Given the description of an element on the screen output the (x, y) to click on. 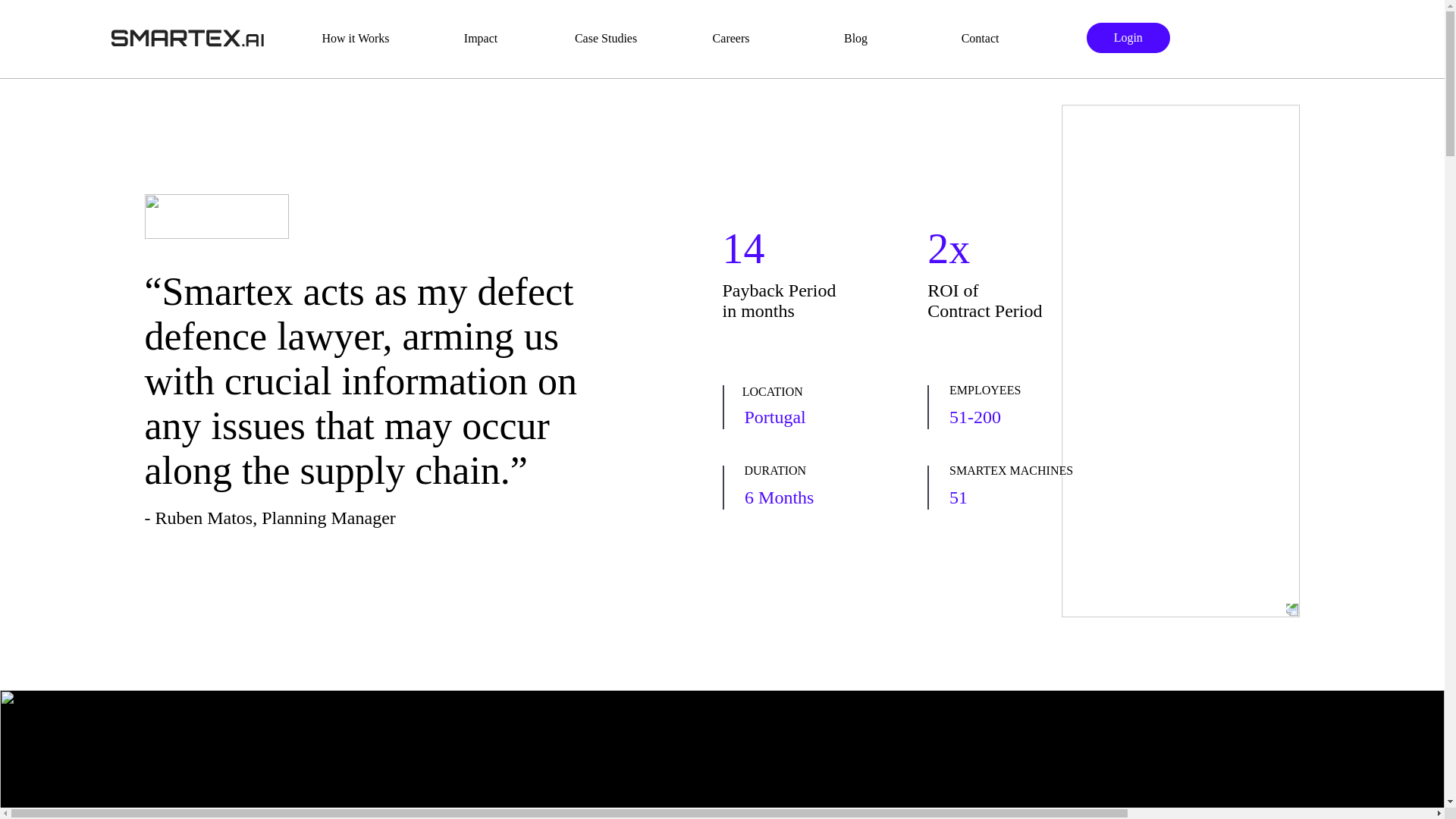
Impact (481, 38)
Case Studies (605, 38)
Blog (855, 38)
Careers (730, 38)
Contact (980, 38)
Login (1128, 38)
How it Works (356, 38)
